Given the description of an element on the screen output the (x, y) to click on. 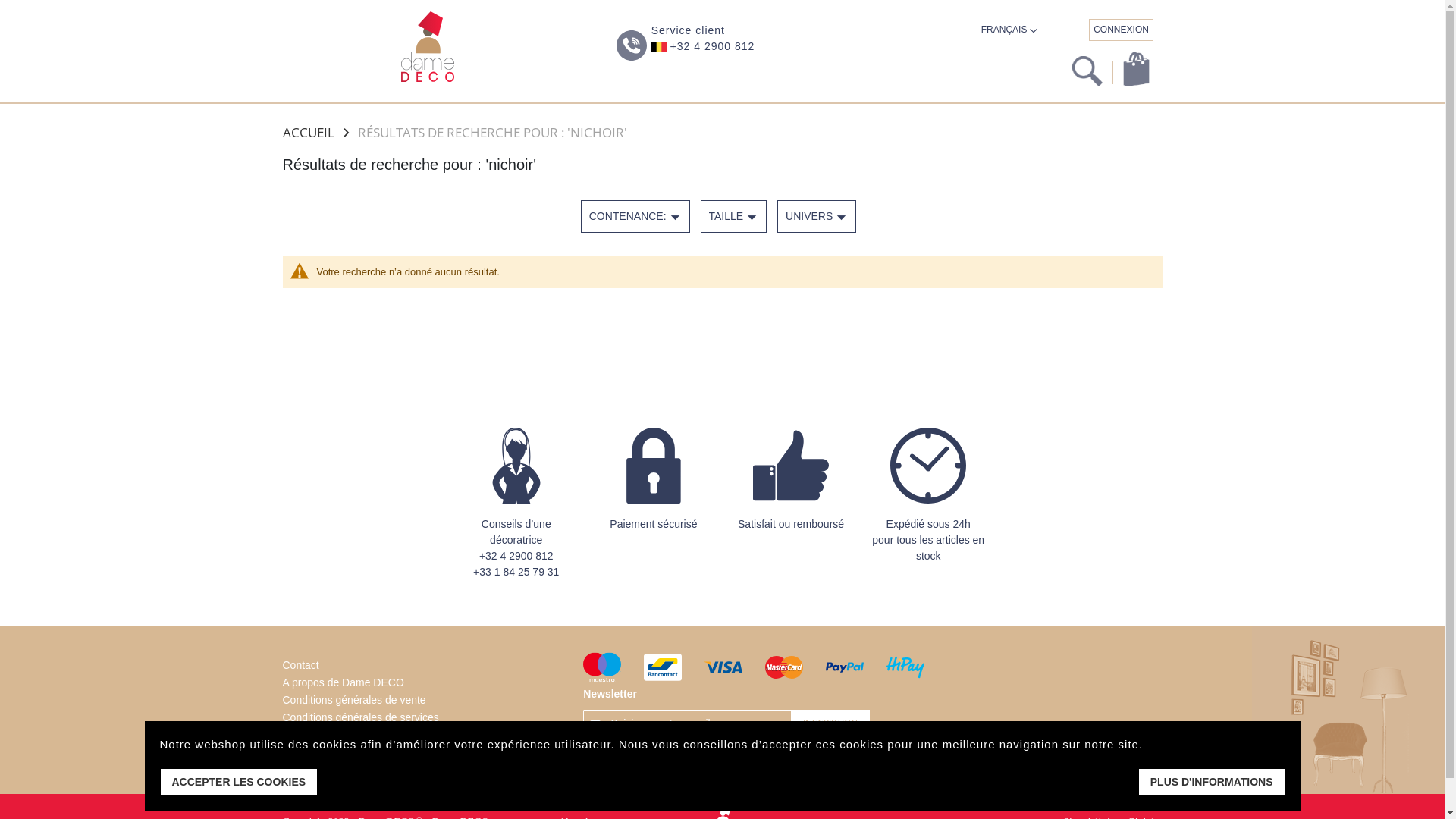
INSCRIPTION Element type: text (829, 723)
CONNEXION Element type: text (1120, 29)
ACCUEIL Element type: text (307, 132)
Mon panier Element type: text (1136, 69)
A propos de Dame DECO Element type: text (342, 682)
Dame DECO Element type: hover (427, 46)
Contact Element type: text (300, 664)
Blog Element type: text (292, 769)
PLUS D'INFORMATIONS Element type: text (1211, 782)
Livraison et retours Element type: text (327, 734)
ACCEPTER LES COOKIES Element type: text (238, 782)
